Given the description of an element on the screen output the (x, y) to click on. 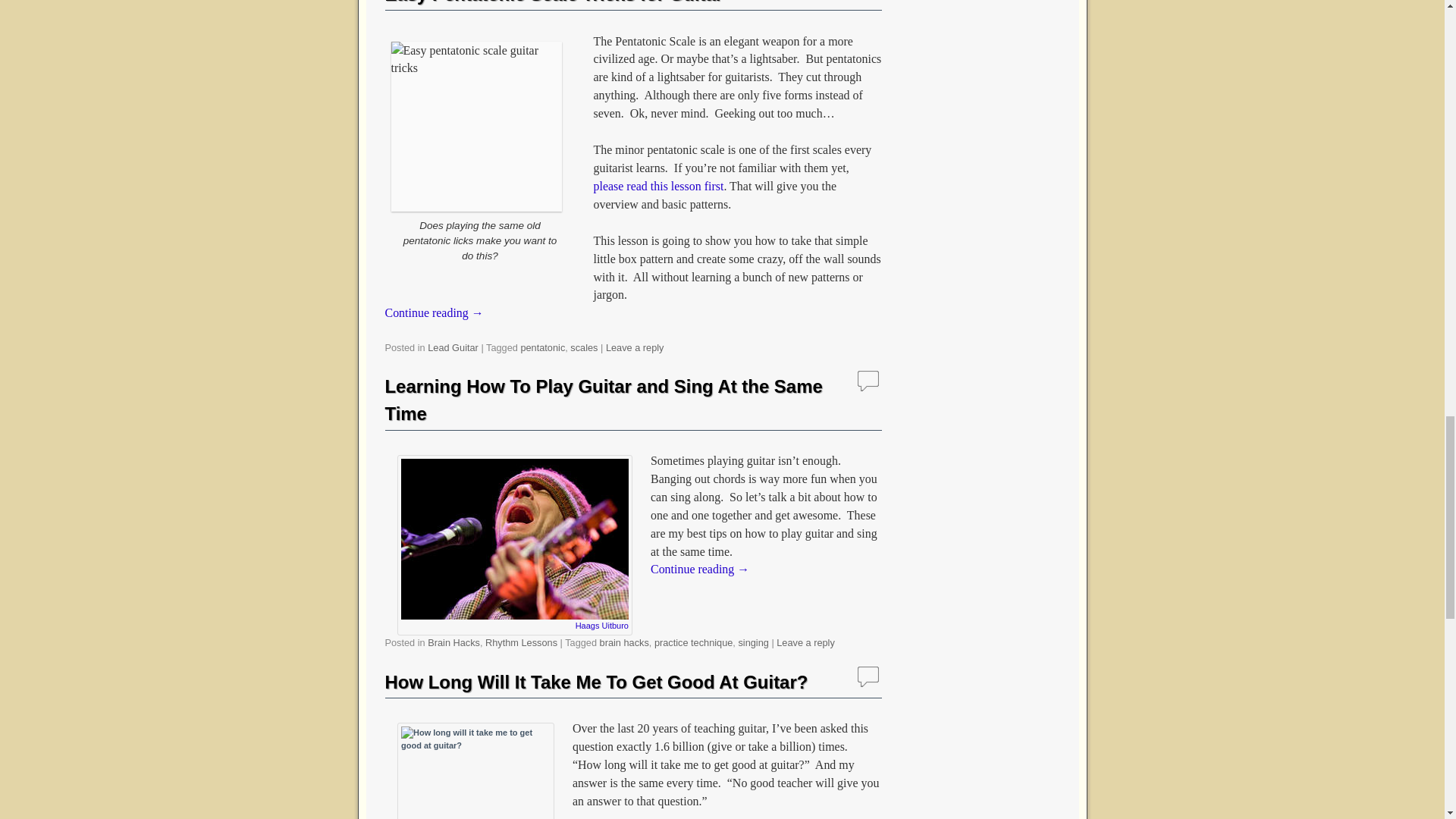
Permalink to Easy Pentatonic Scale Tricks for Guitar (554, 2)
Easy Pentatonic Scale Tricks for Guitar (554, 2)
